Given the description of an element on the screen output the (x, y) to click on. 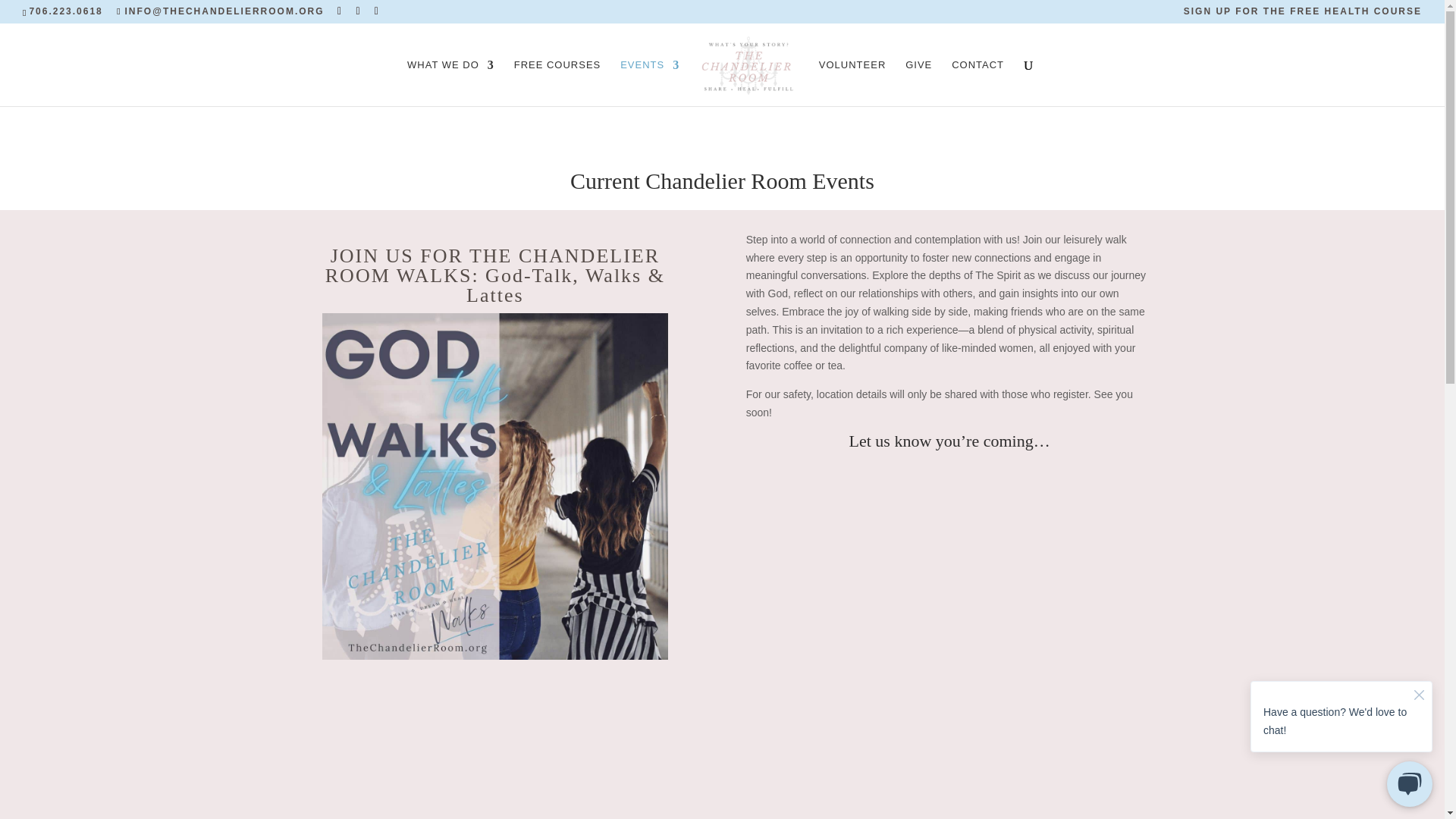
CONTACT (978, 82)
SIGN UP FOR THE FREE HEALTH COURSE (1302, 14)
FREE COURSES (557, 82)
EVENTS (649, 82)
WHAT WE DO (451, 82)
VOLUNTEER (851, 82)
